Given the description of an element on the screen output the (x, y) to click on. 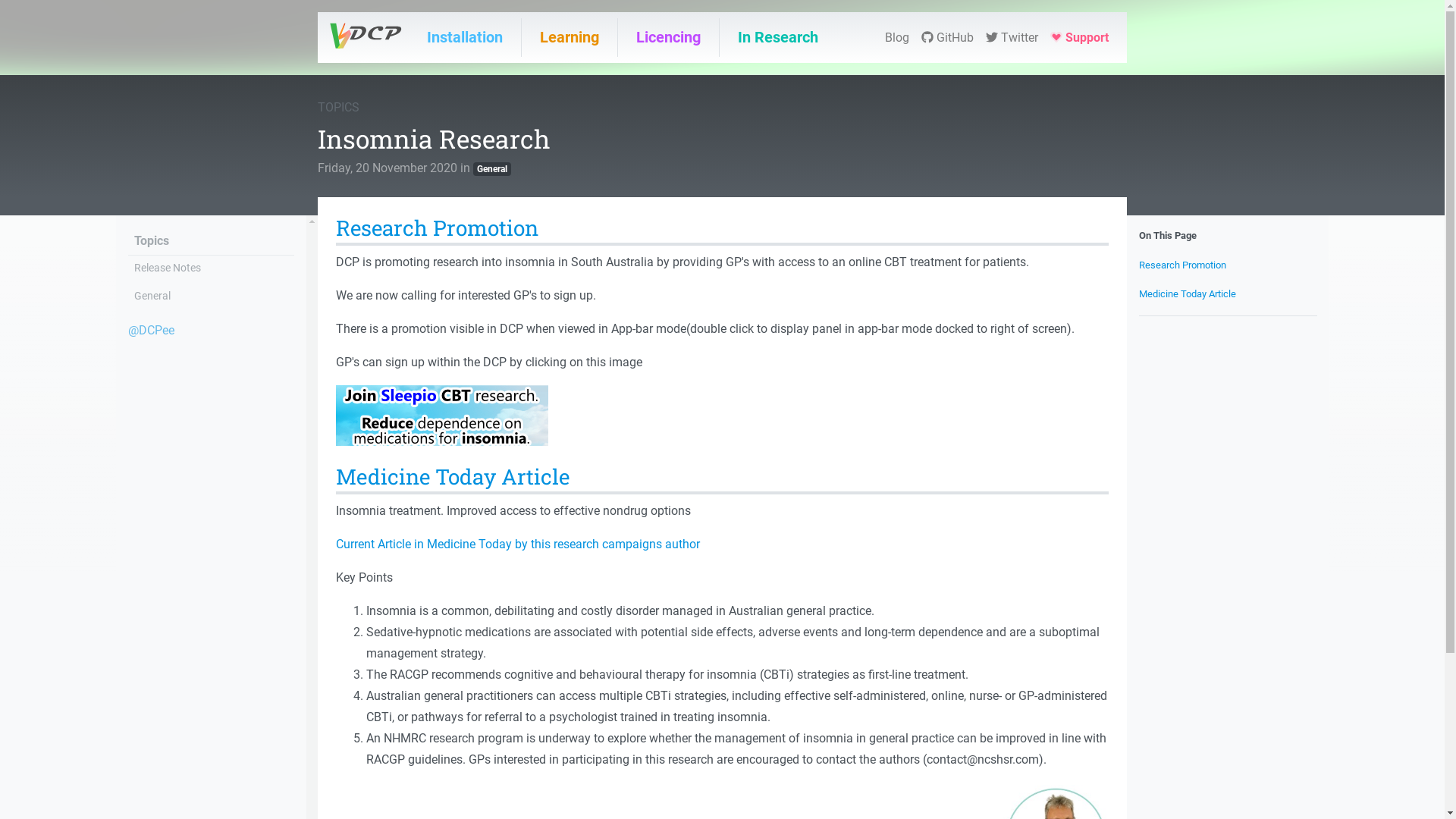
GitHub Element type: text (947, 37)
General Element type: text (151, 295)
Medicine Today Article Element type: text (1187, 293)
TOPICS Element type: text (338, 107)
Licencing Element type: text (668, 37)
General Element type: text (492, 167)
Topics Element type: text (150, 240)
Learning Element type: text (569, 37)
@DCPee Element type: text (150, 330)
Twitter Element type: text (1011, 37)
Installation Element type: text (464, 37)
Research Promotion Element type: text (1182, 264)
Blog Element type: text (896, 37)
Support Element type: text (1079, 37)
In Research Element type: text (777, 37)
Release Notes Element type: text (166, 267)
